Given the description of an element on the screen output the (x, y) to click on. 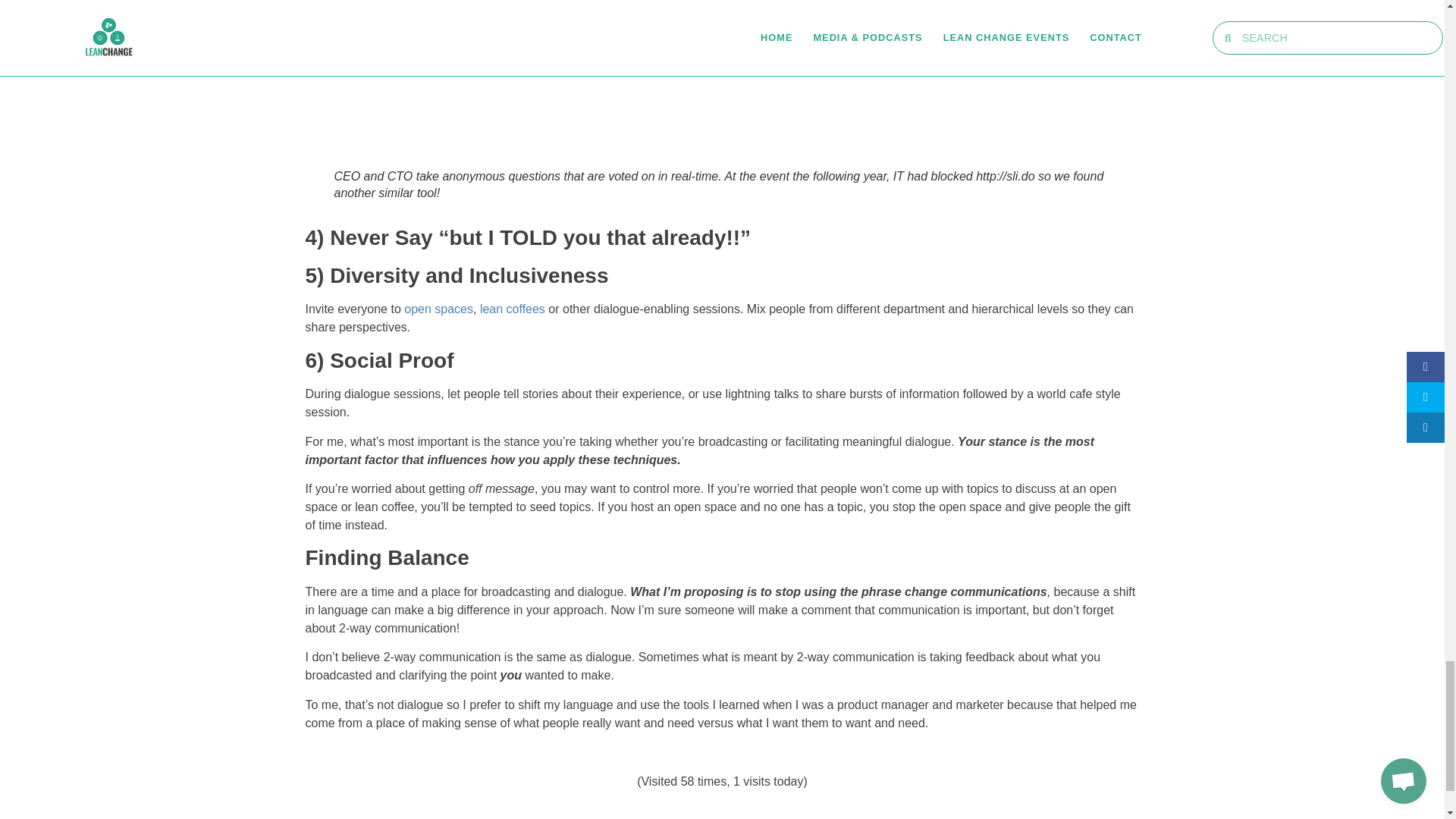
lean coffees (512, 308)
open spaces (438, 308)
